Given the description of an element on the screen output the (x, y) to click on. 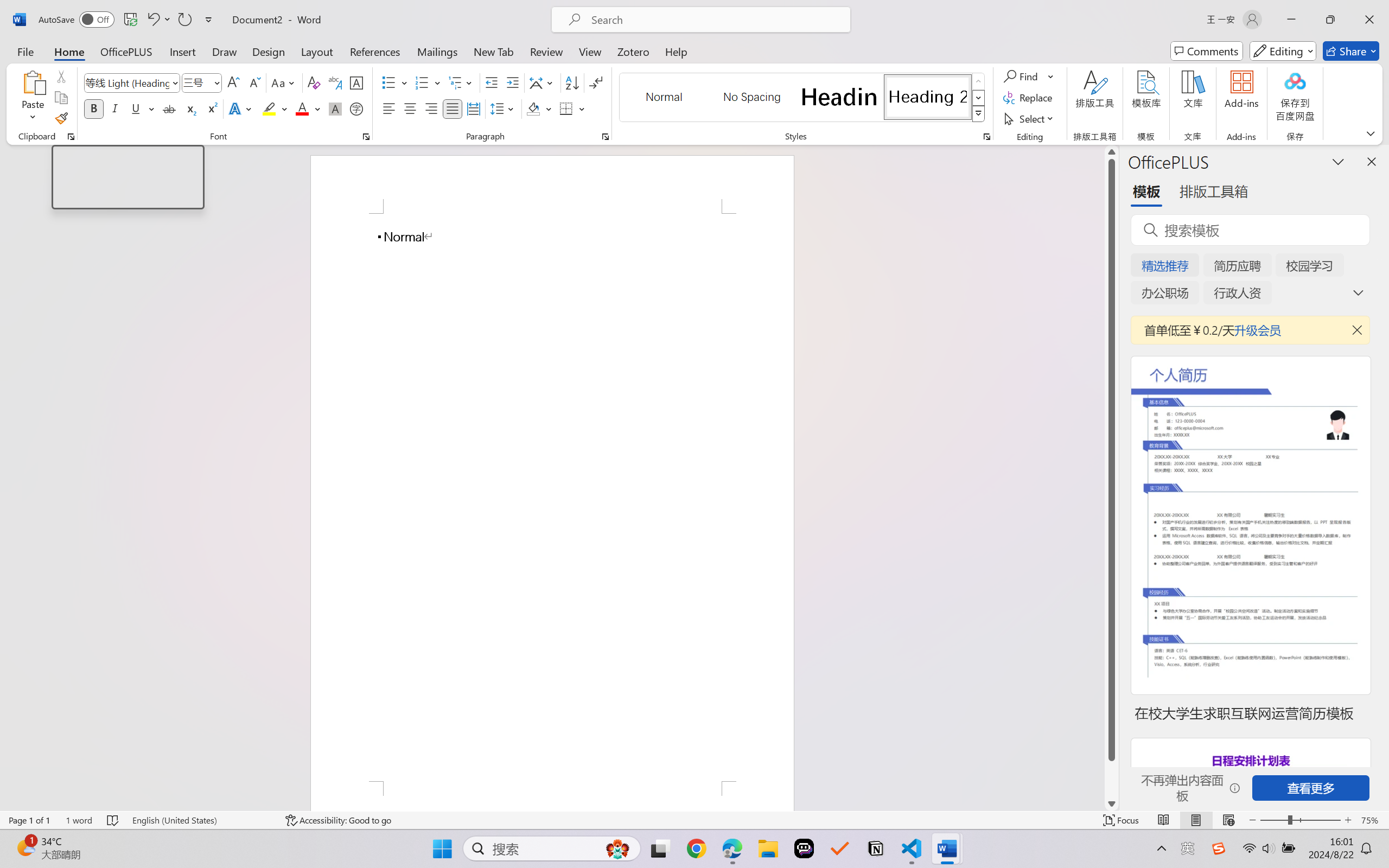
Page 1 content (551, 497)
Text Effects and Typography (241, 108)
Borders (566, 108)
Share (1350, 51)
Page down (1111, 778)
Align Left (388, 108)
Paragraph... (605, 136)
Minimize (1291, 19)
Decrease Indent (491, 82)
Undo Typing (158, 19)
More Options (1051, 75)
